Given the description of an element on the screen output the (x, y) to click on. 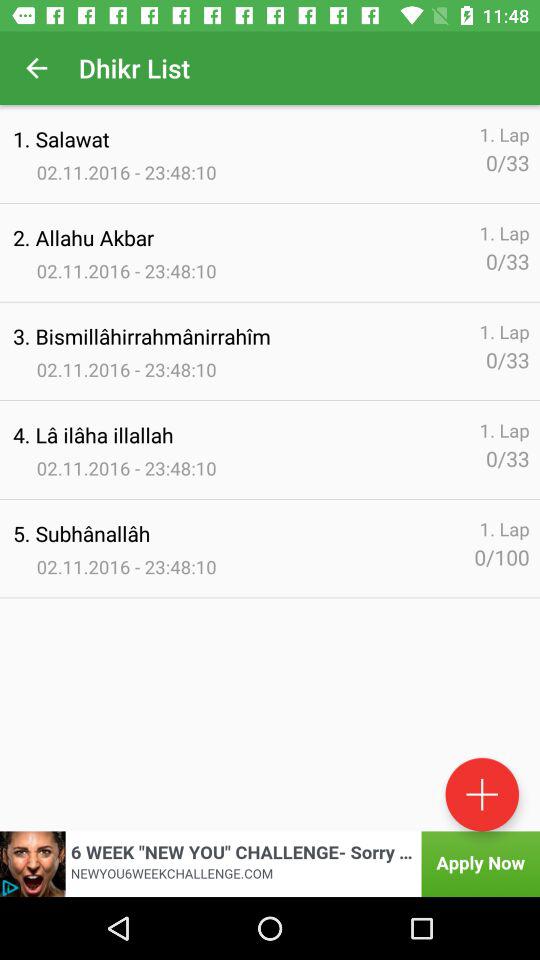
turn off the icon next to dhikr list (36, 68)
